Given the description of an element on the screen output the (x, y) to click on. 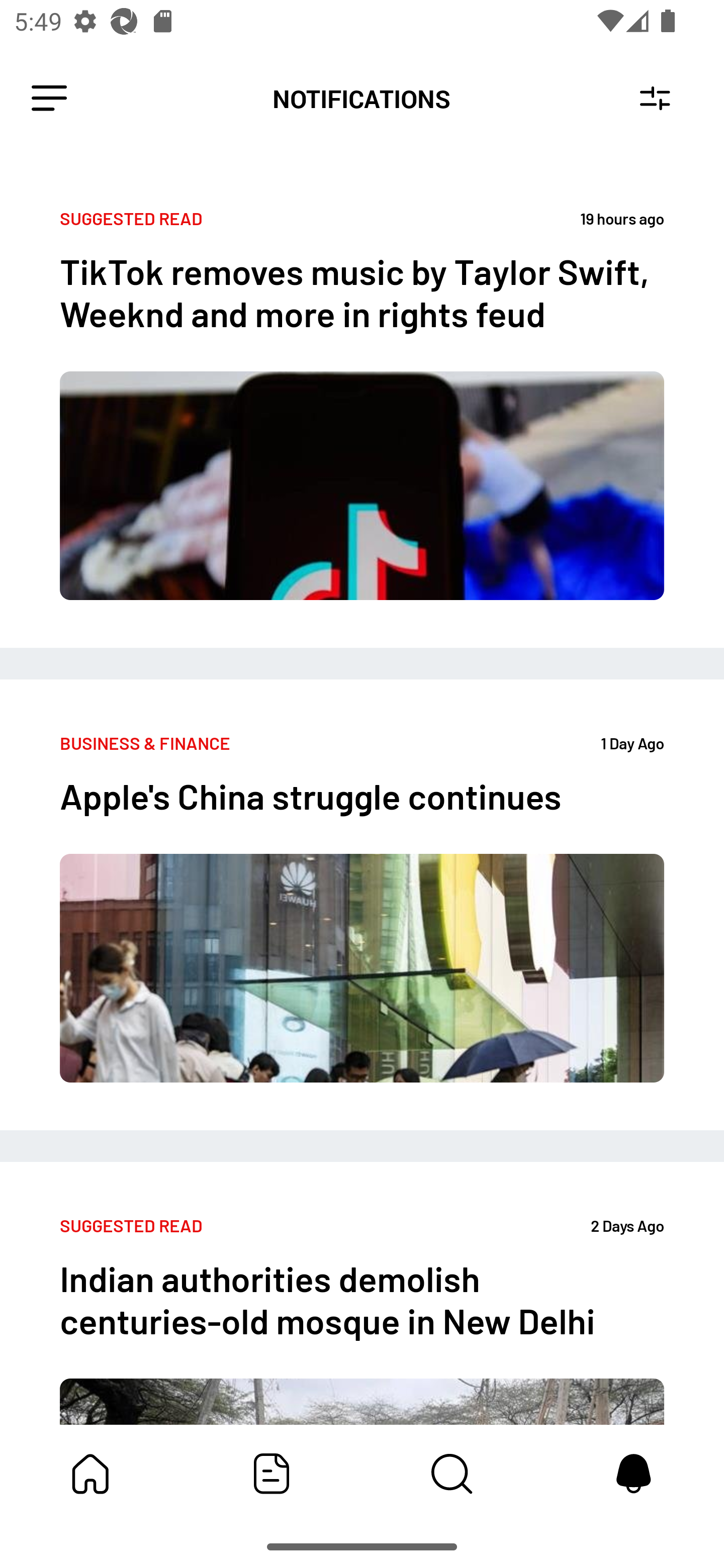
Leading Icon (49, 98)
Notification Settings (655, 98)
My Bundle (90, 1473)
Featured (271, 1473)
Content Store (452, 1473)
